Given the description of an element on the screen output the (x, y) to click on. 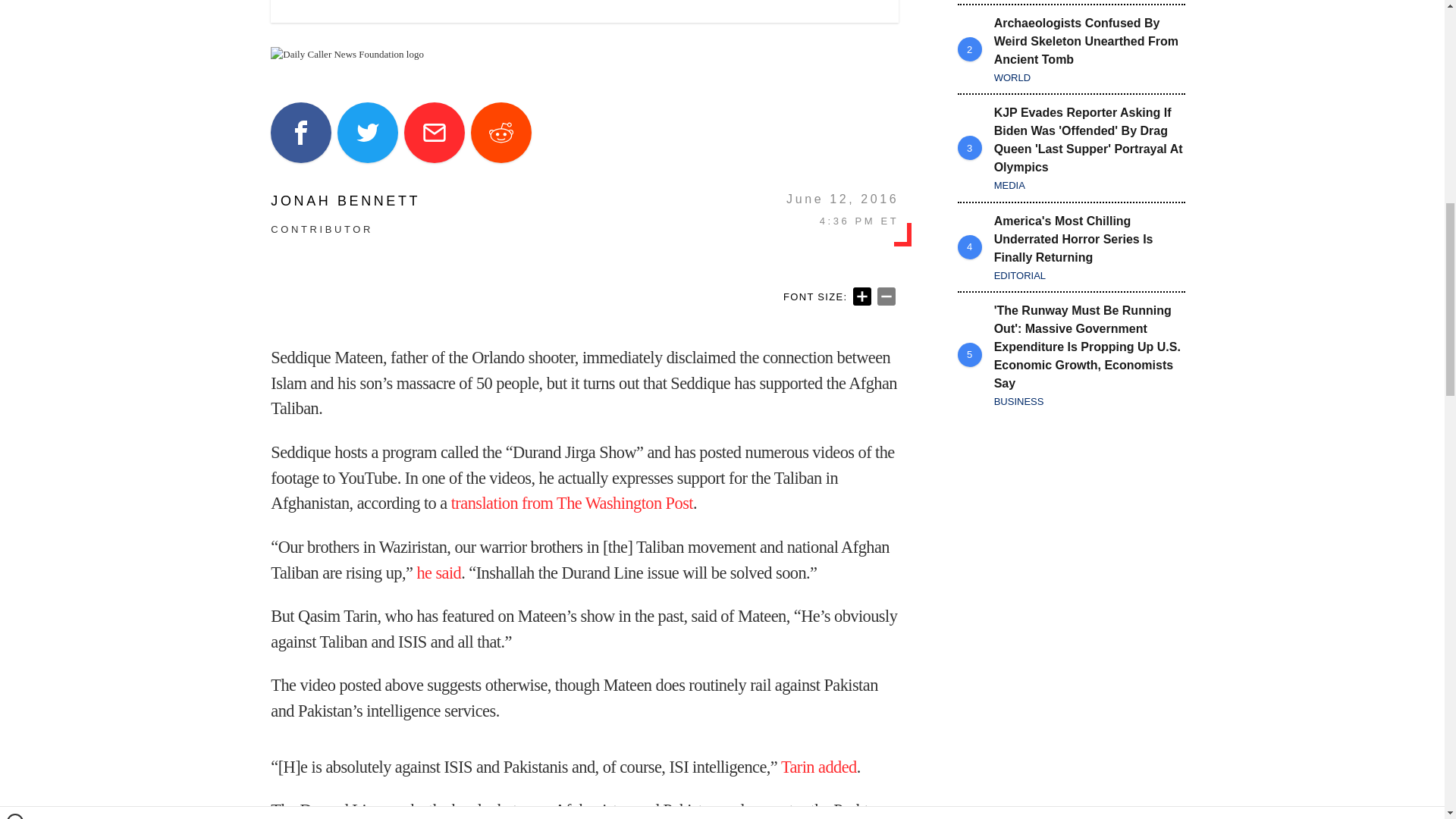
View More Articles By Jonah Bennett (345, 200)
JONAH BENNETT (345, 200)
he said (438, 572)
translation from The Washington Post (572, 502)
Close window (14, 6)
